Given the description of an element on the screen output the (x, y) to click on. 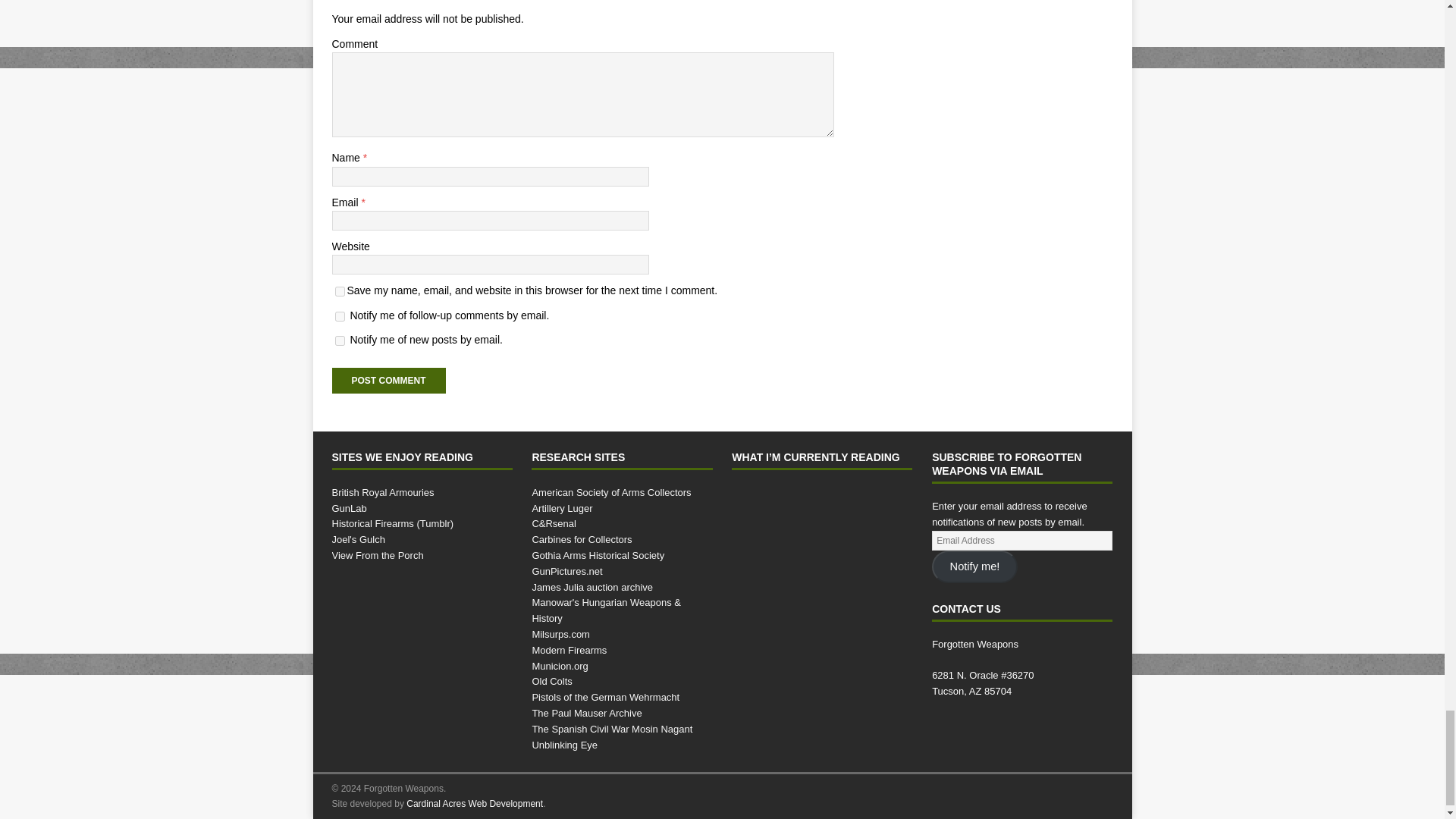
Post Comment (388, 380)
subscribe (339, 340)
subscribe (339, 316)
yes (339, 291)
